Given the description of an element on the screen output the (x, y) to click on. 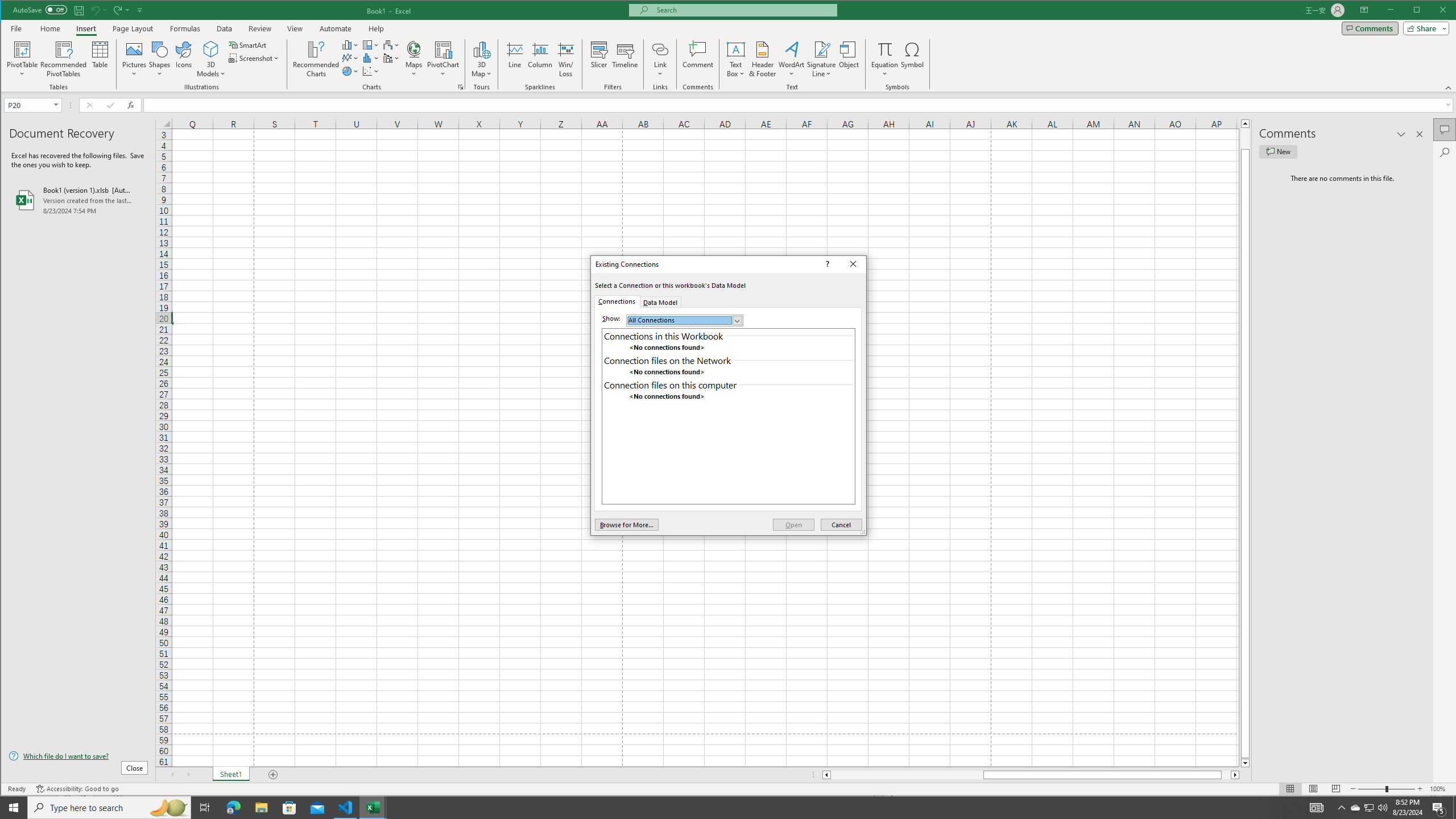
Quick Access Toolbar (79, 9)
Review (259, 28)
Action Center, 5 new notifications (1439, 807)
Type here to search (108, 807)
PivotChart (443, 48)
PivotTable (22, 59)
Comment (697, 59)
Automate (336, 28)
Connections in this Workbook (728, 335)
Cancel (841, 524)
Link (659, 48)
